Given the description of an element on the screen output the (x, y) to click on. 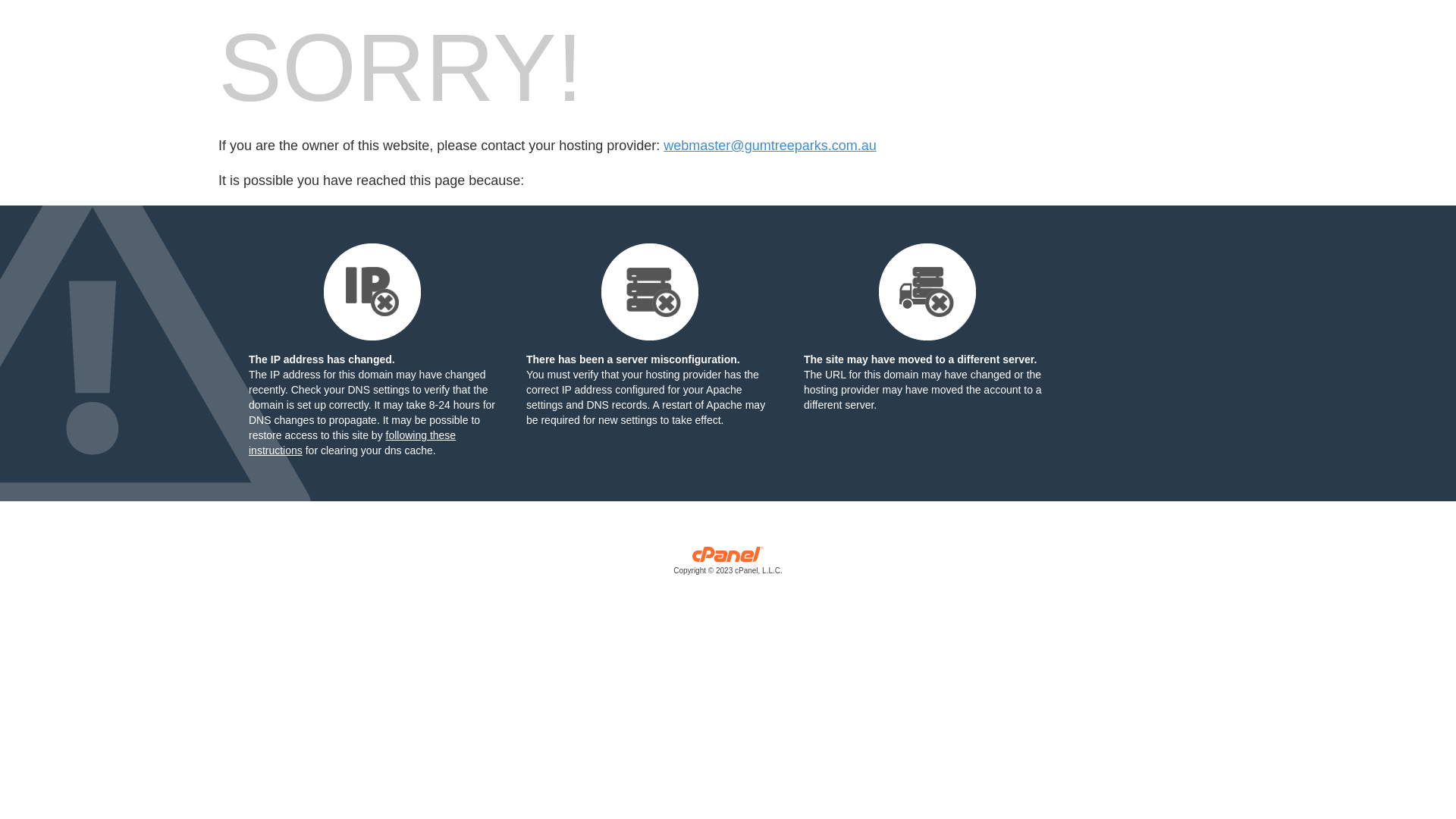
following these instructions Element type: text (351, 442)
webmaster@gumtreeparks.com.au Element type: text (769, 145)
